Given the description of an element on the screen output the (x, y) to click on. 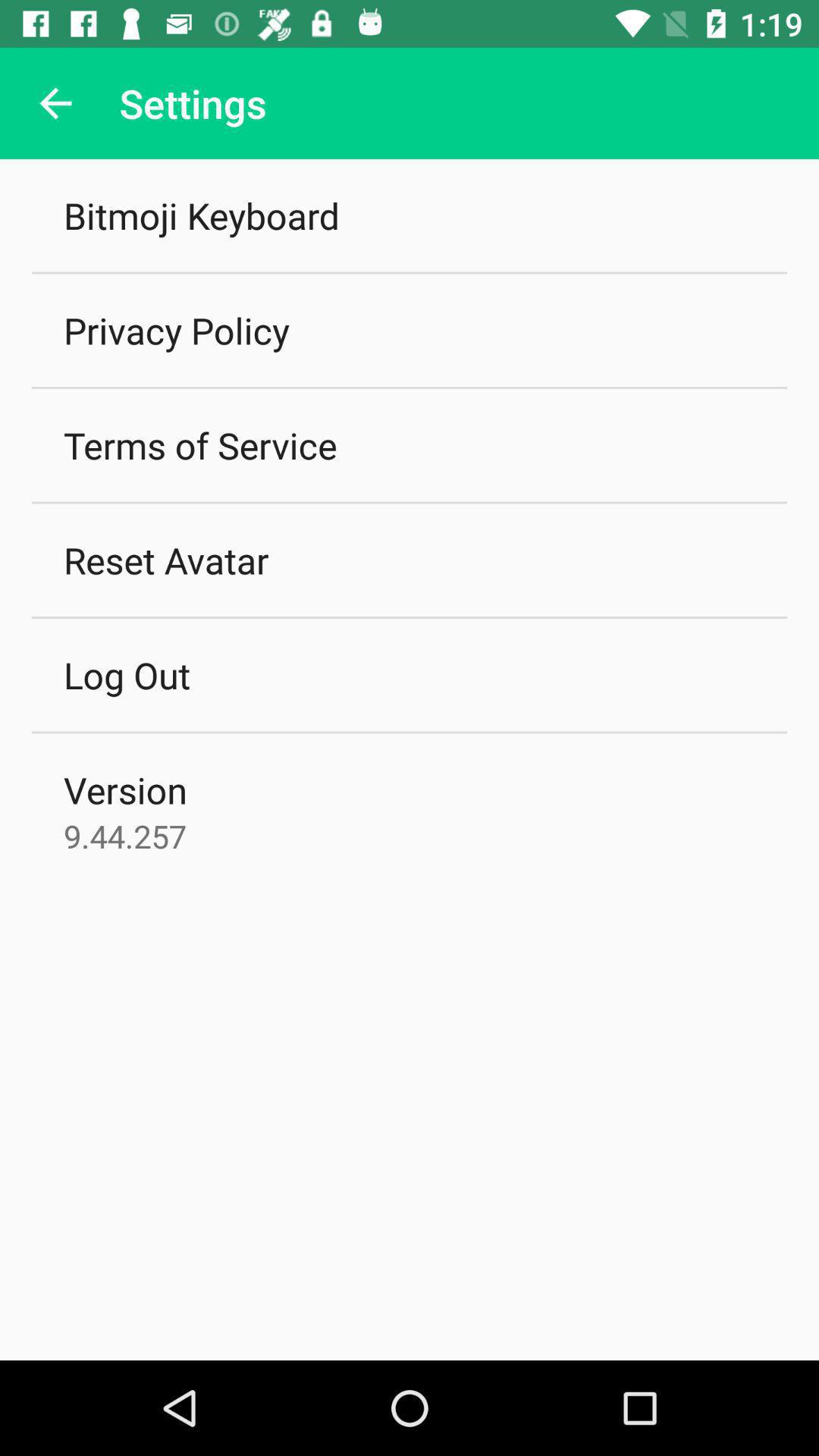
press the icon to the left of settings icon (55, 103)
